Given the description of an element on the screen output the (x, y) to click on. 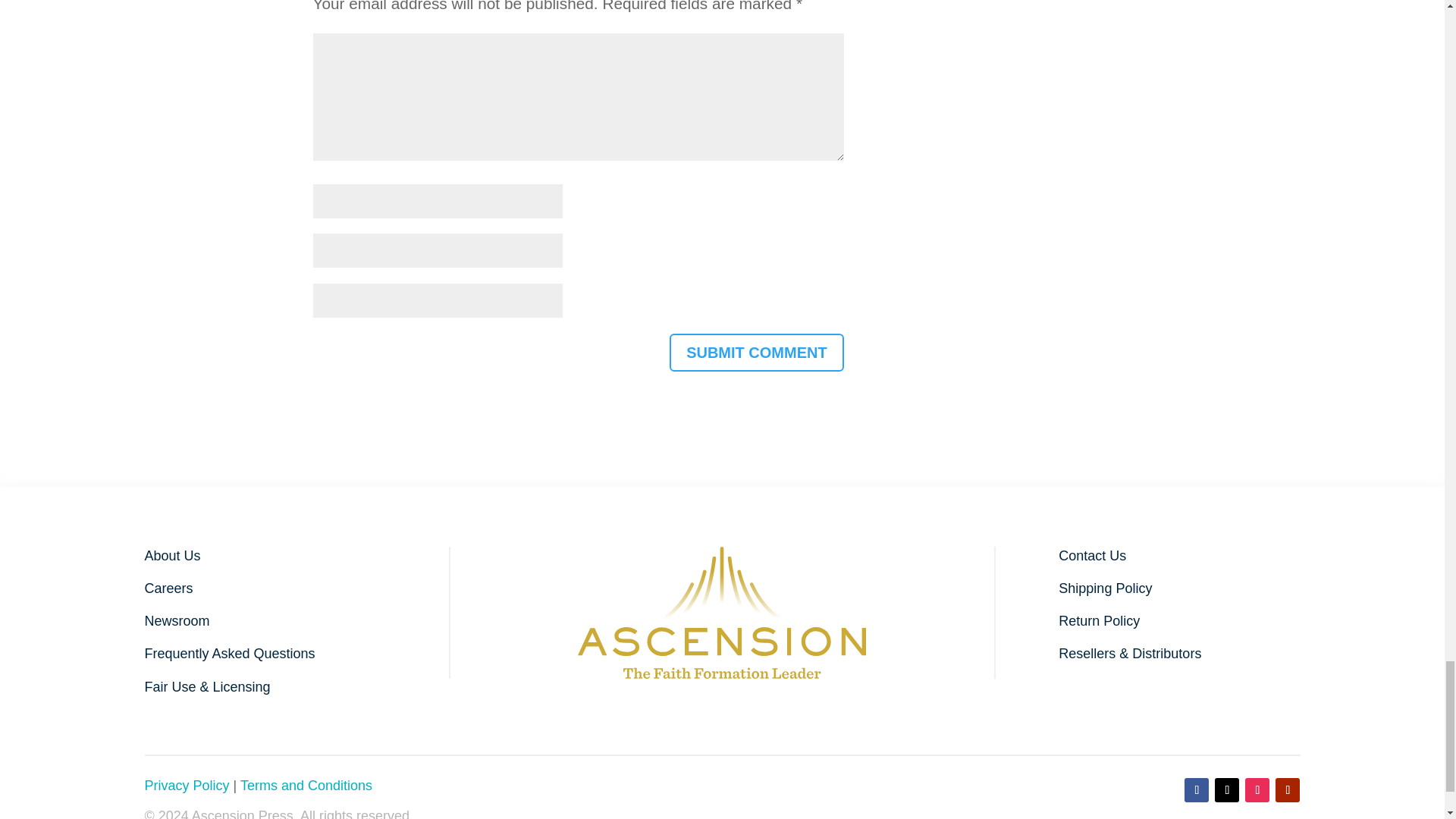
logo-facebook (722, 612)
Follow on Youtube (1287, 790)
SUBMIT COMMENT (756, 352)
Follow on Instagram (1256, 790)
Follow on Facebook (1196, 790)
Follow on X (1226, 790)
